Given the description of an element on the screen output the (x, y) to click on. 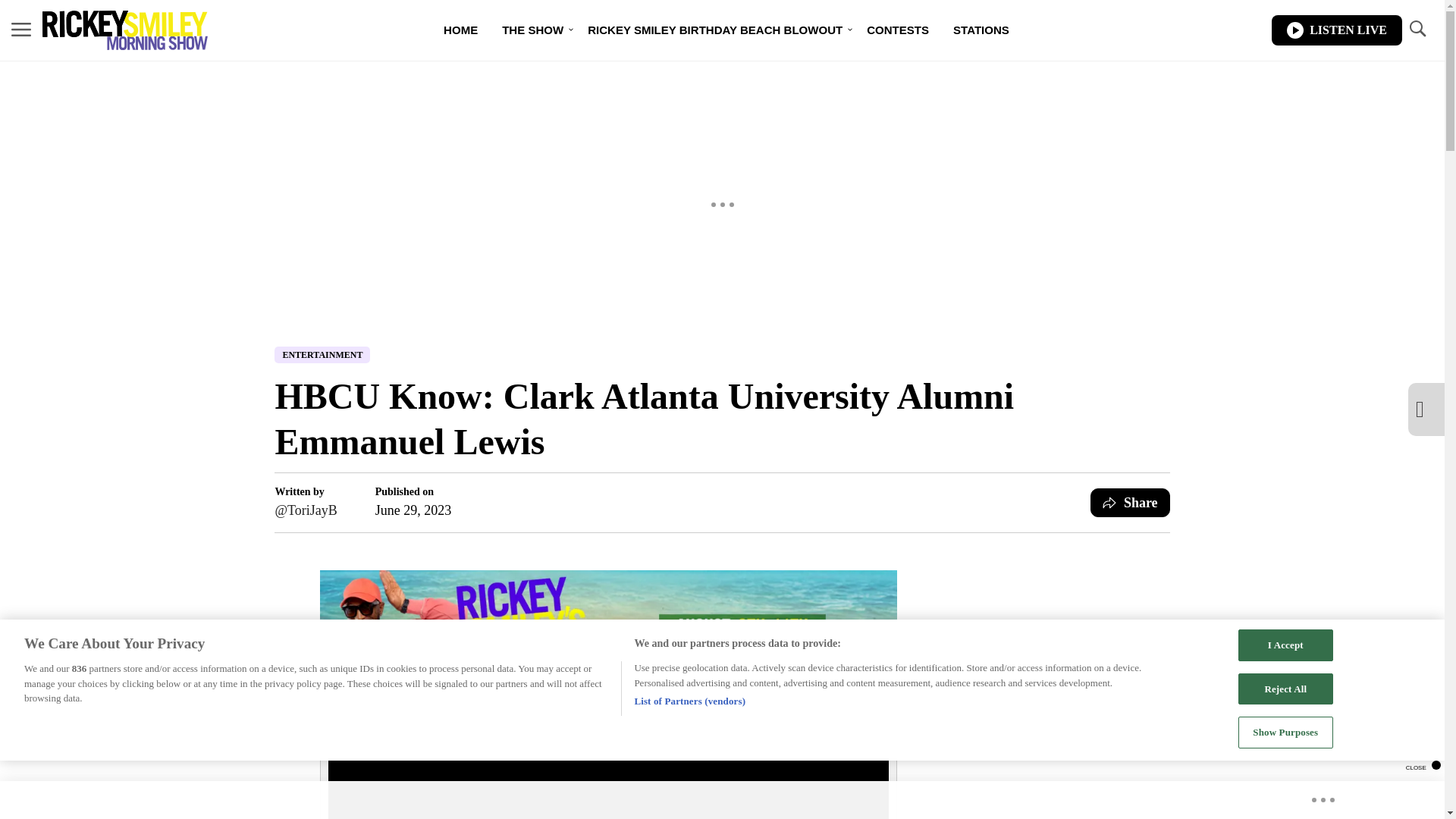
LISTEN LIVE (1336, 30)
Share (1130, 502)
MENU (20, 30)
TOGGLE SEARCH (1417, 28)
STATIONS (981, 30)
CONTESTS (897, 30)
Stations (981, 30)
ENTERTAINMENT (322, 354)
RICKEY SMILEY BIRTHDAY BEACH BLOWOUT (714, 30)
HOME (459, 30)
TOGGLE SEARCH (1417, 30)
MENU (20, 29)
THE SHOW (532, 30)
